Given the description of an element on the screen output the (x, y) to click on. 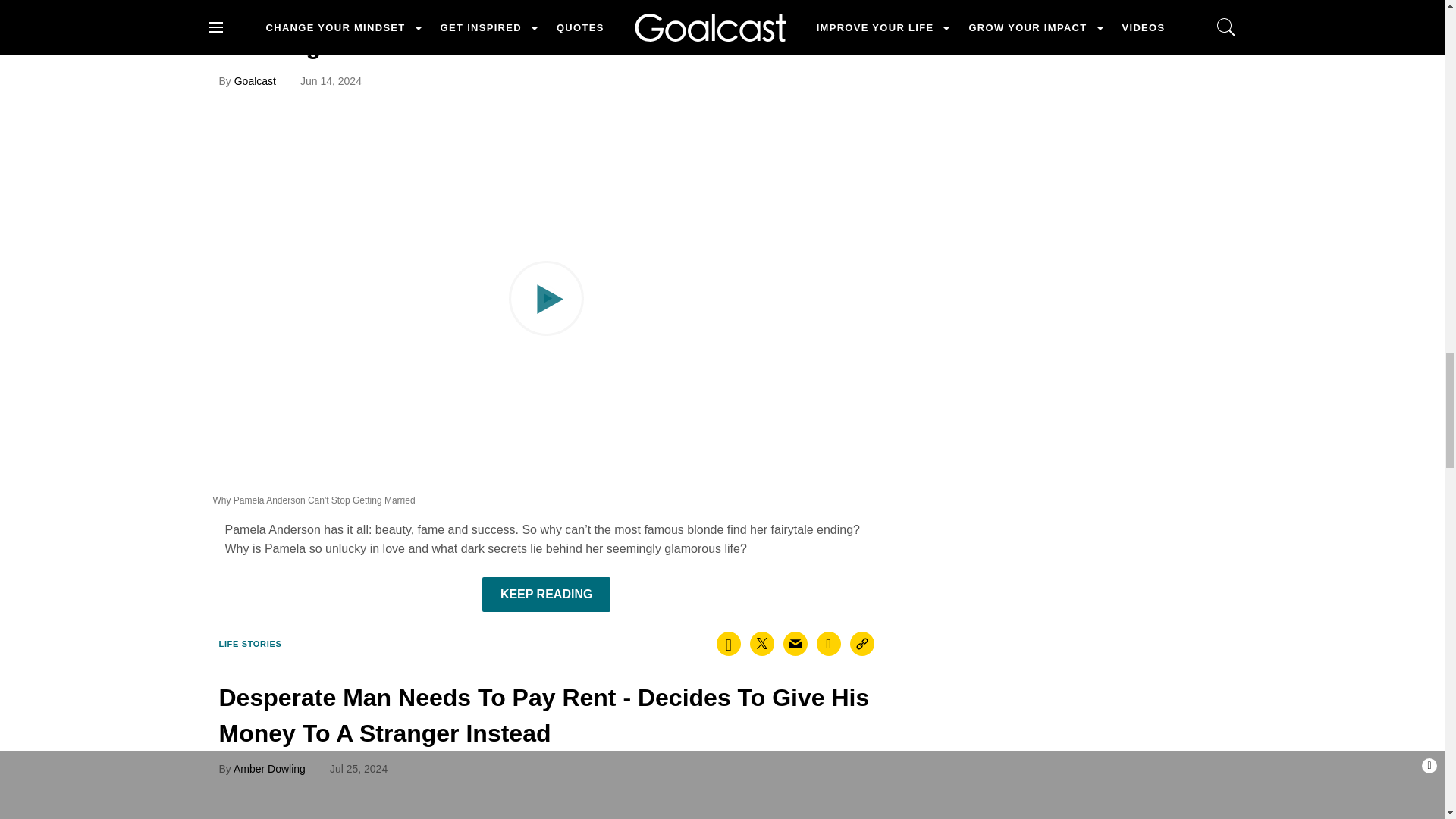
Copy this link to clipboard (862, 643)
